Given the description of an element on the screen output the (x, y) to click on. 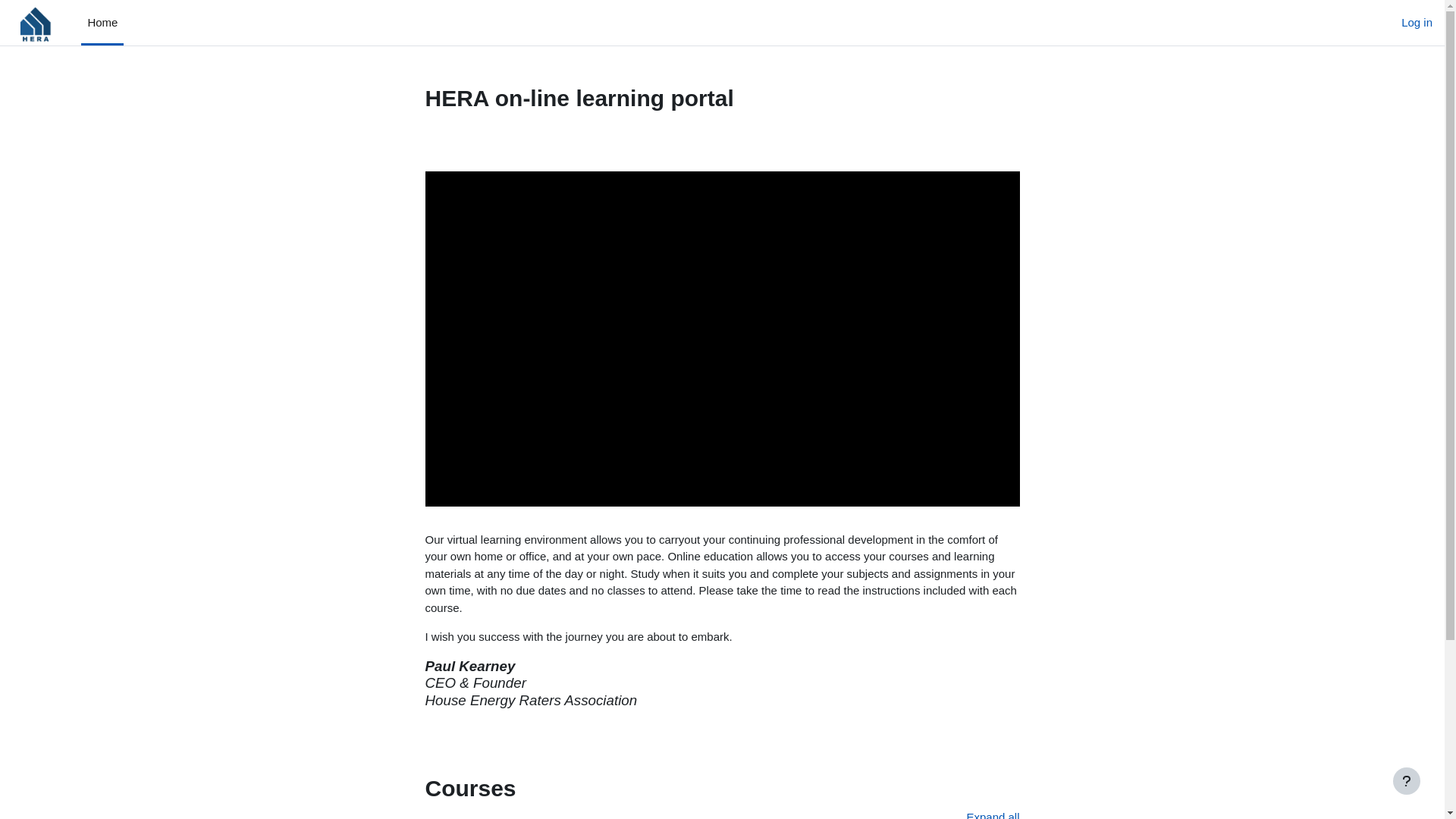
Home Element type: text (102, 22)
Log in Element type: text (1416, 22)
